Given the description of an element on the screen output the (x, y) to click on. 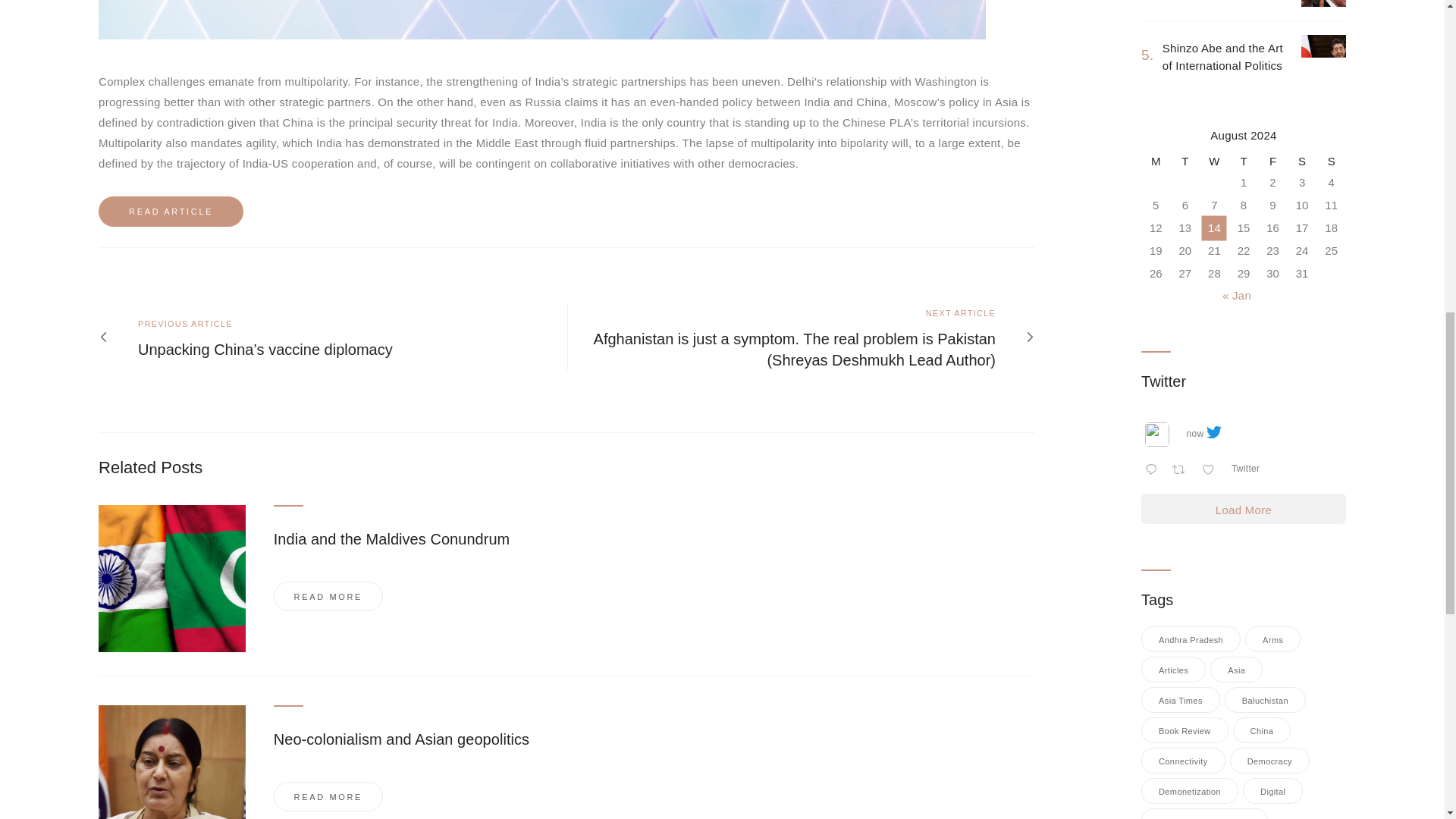
Saturday (1302, 161)
Monday (1155, 161)
Tuesday (1184, 161)
Sunday (1330, 161)
Friday (1272, 161)
Thursday (1243, 161)
Wednesday (1213, 161)
